Given the description of an element on the screen output the (x, y) to click on. 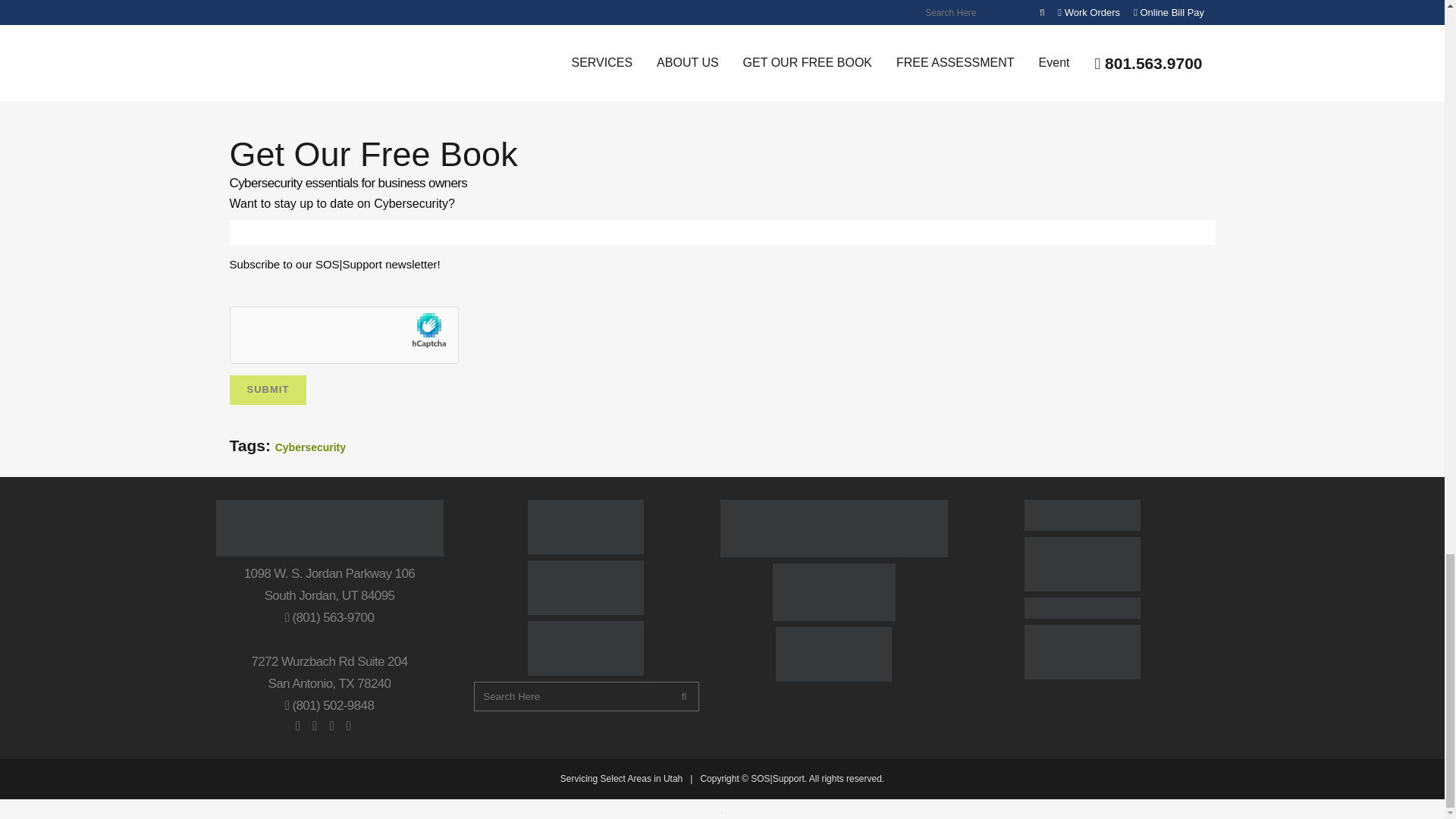
Submit (266, 389)
